Given the description of an element on the screen output the (x, y) to click on. 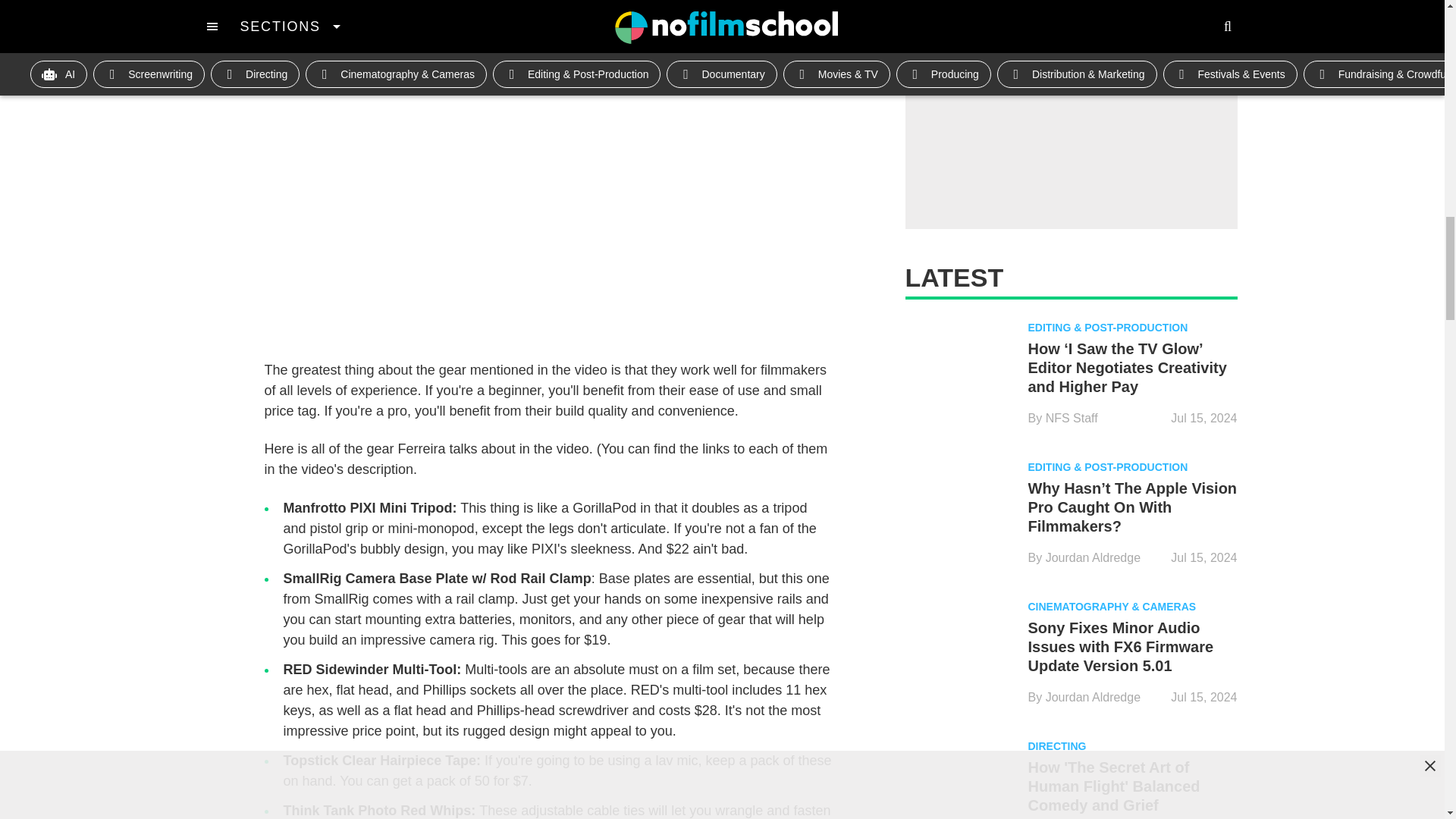
3rd party ad content (1070, 114)
